Given the description of an element on the screen output the (x, y) to click on. 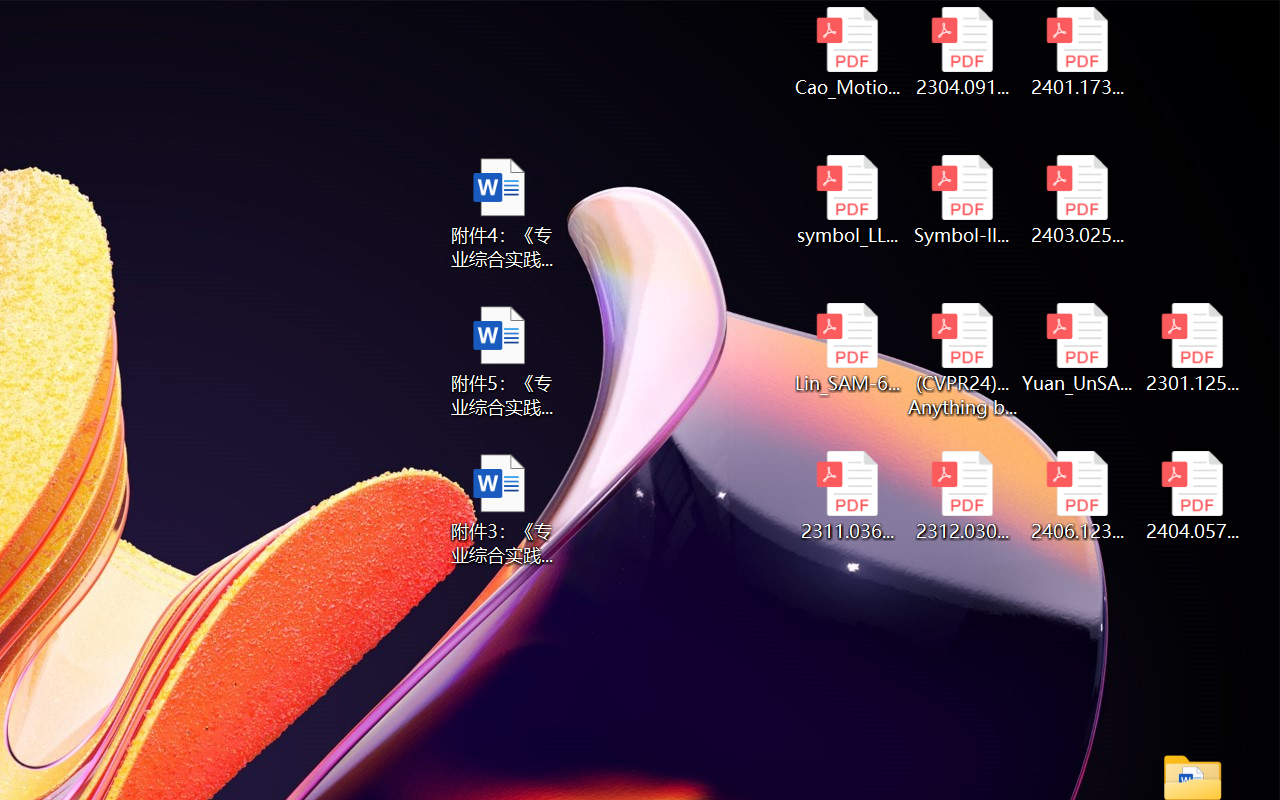
(CVPR24)Matching Anything by Segmenting Anything.pdf (962, 360)
